Given the description of an element on the screen output the (x, y) to click on. 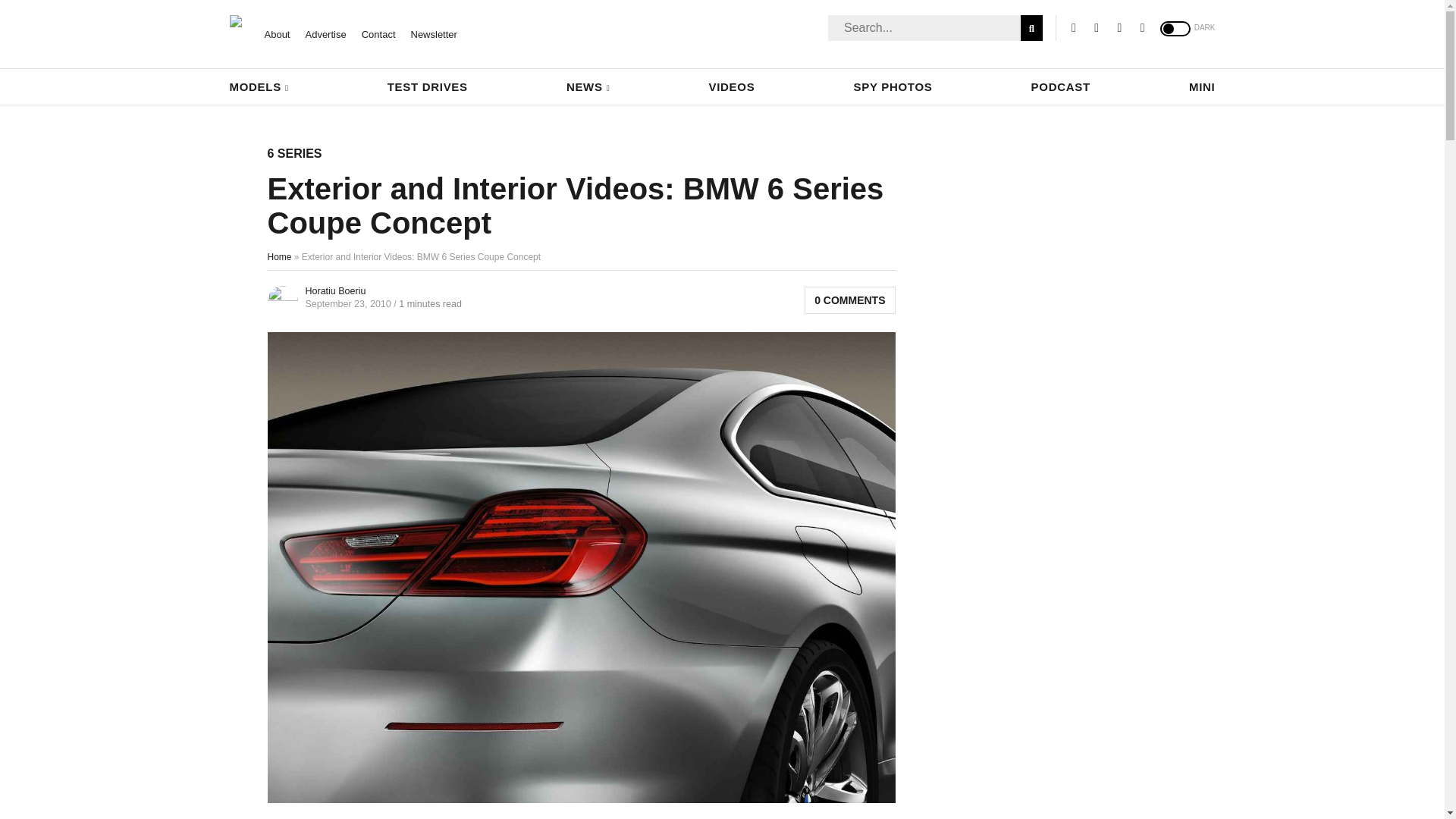
Newsletter (433, 34)
BMW BLOG (234, 21)
MODELS (258, 86)
Horatiu Boeriu (334, 290)
About (276, 34)
Contact (378, 34)
Advertise (325, 34)
